Given the description of an element on the screen output the (x, y) to click on. 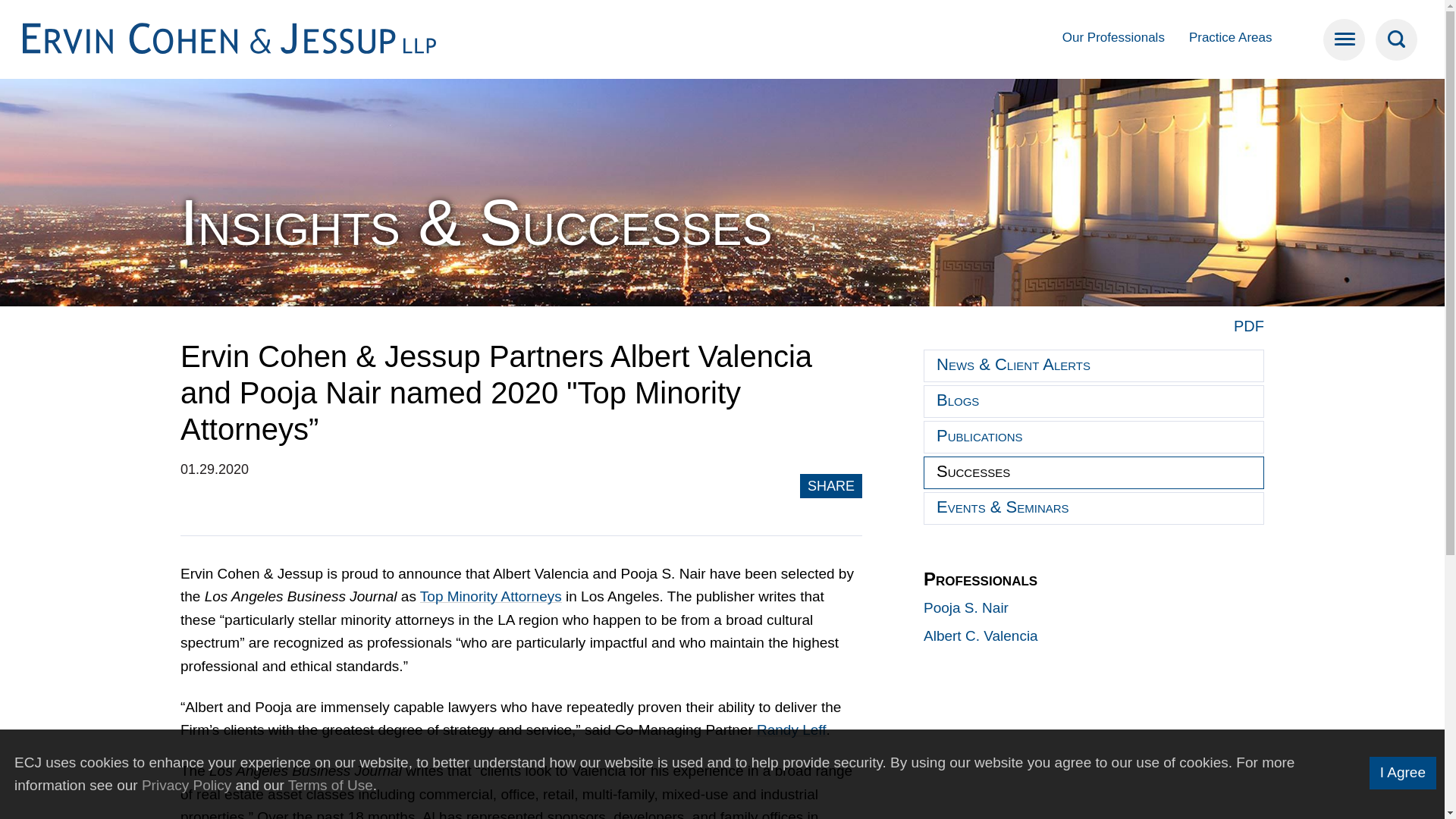
Top Minority Attorneys (491, 596)
Publications (1093, 436)
Albert C. Valencia (980, 635)
Share (831, 485)
Pooja S. Nair (966, 607)
Successes (1093, 472)
Randy Leff (792, 729)
Practice Areas (1230, 37)
Our Professionals (1113, 37)
Blogs (1093, 400)
PDF (1248, 325)
SHARE (831, 485)
